Given the description of an element on the screen output the (x, y) to click on. 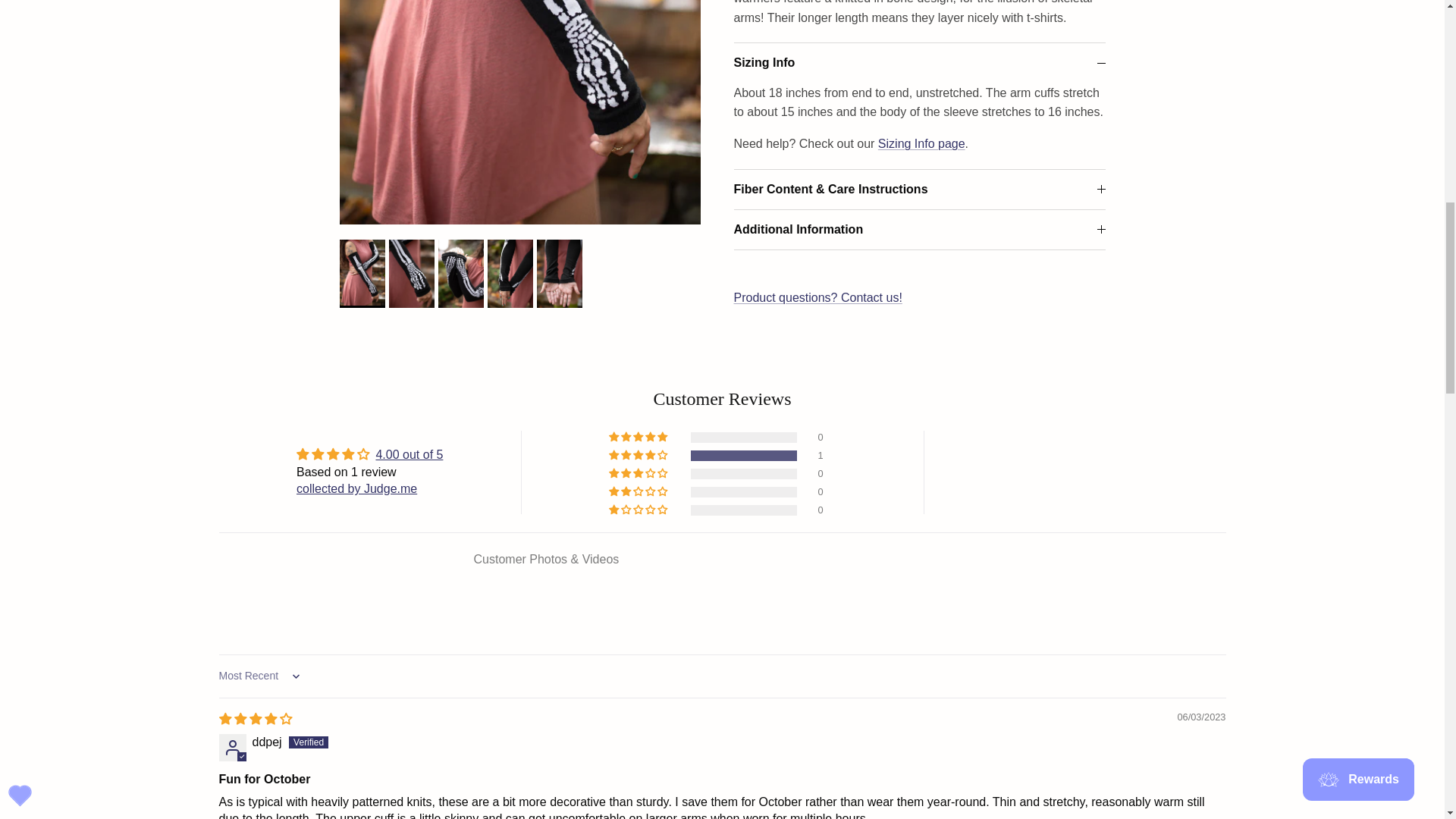
Sizing Tips (921, 131)
Contact Us (817, 285)
